Given the description of an element on the screen output the (x, y) to click on. 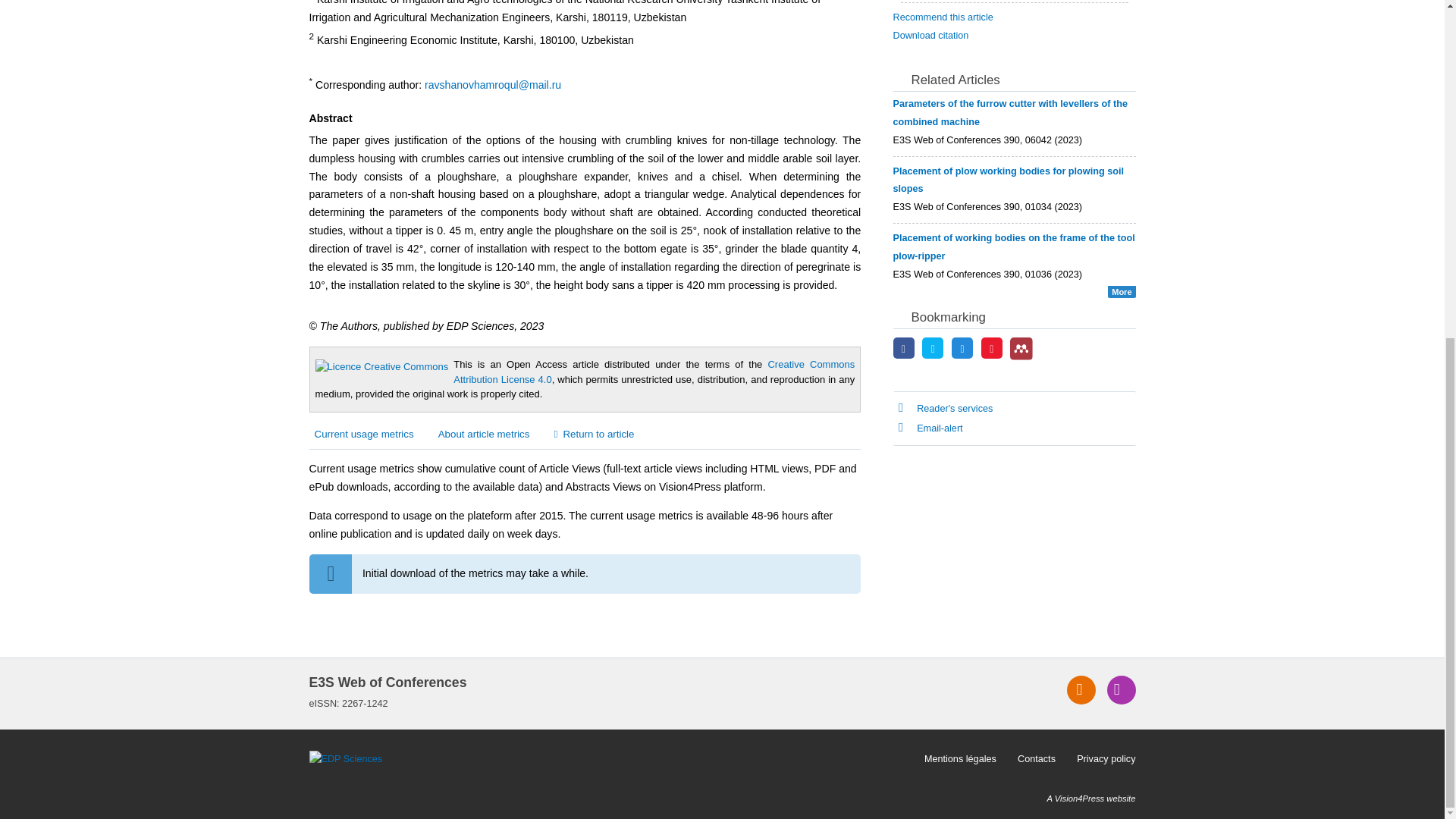
Mendeley (1021, 348)
